Given the description of an element on the screen output the (x, y) to click on. 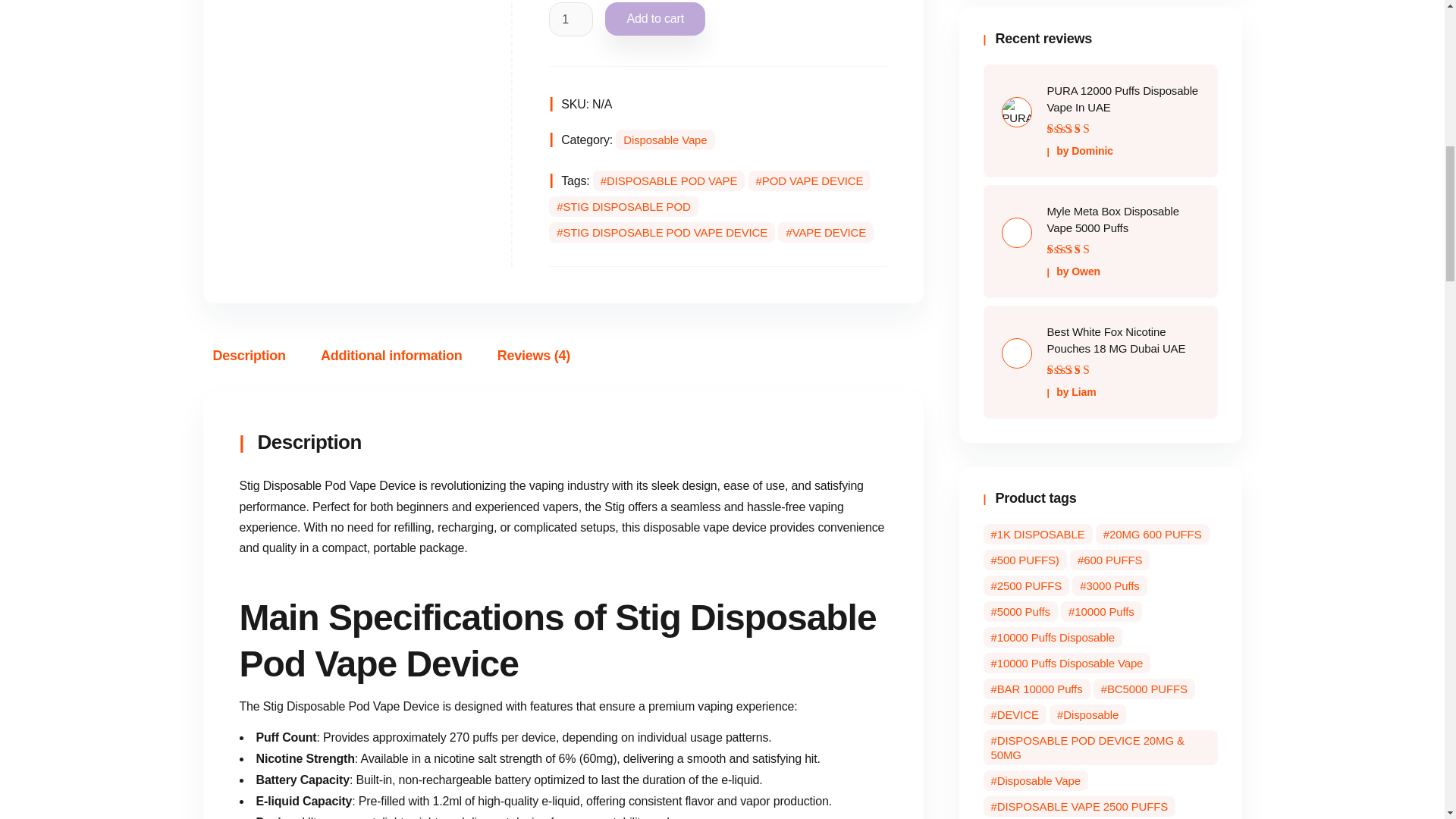
DISPOSABLE POD VAPE (668, 180)
STIG DISPOSABLE POD VAPE DEVICE (661, 231)
Disposable Vape (664, 139)
1 (570, 19)
Add to cart (654, 19)
STIG DISPOSABLE POD (623, 206)
VAPE DEVICE (825, 231)
Description (248, 355)
Additional information (390, 355)
POD VAPE DEVICE (809, 180)
